Given the description of an element on the screen output the (x, y) to click on. 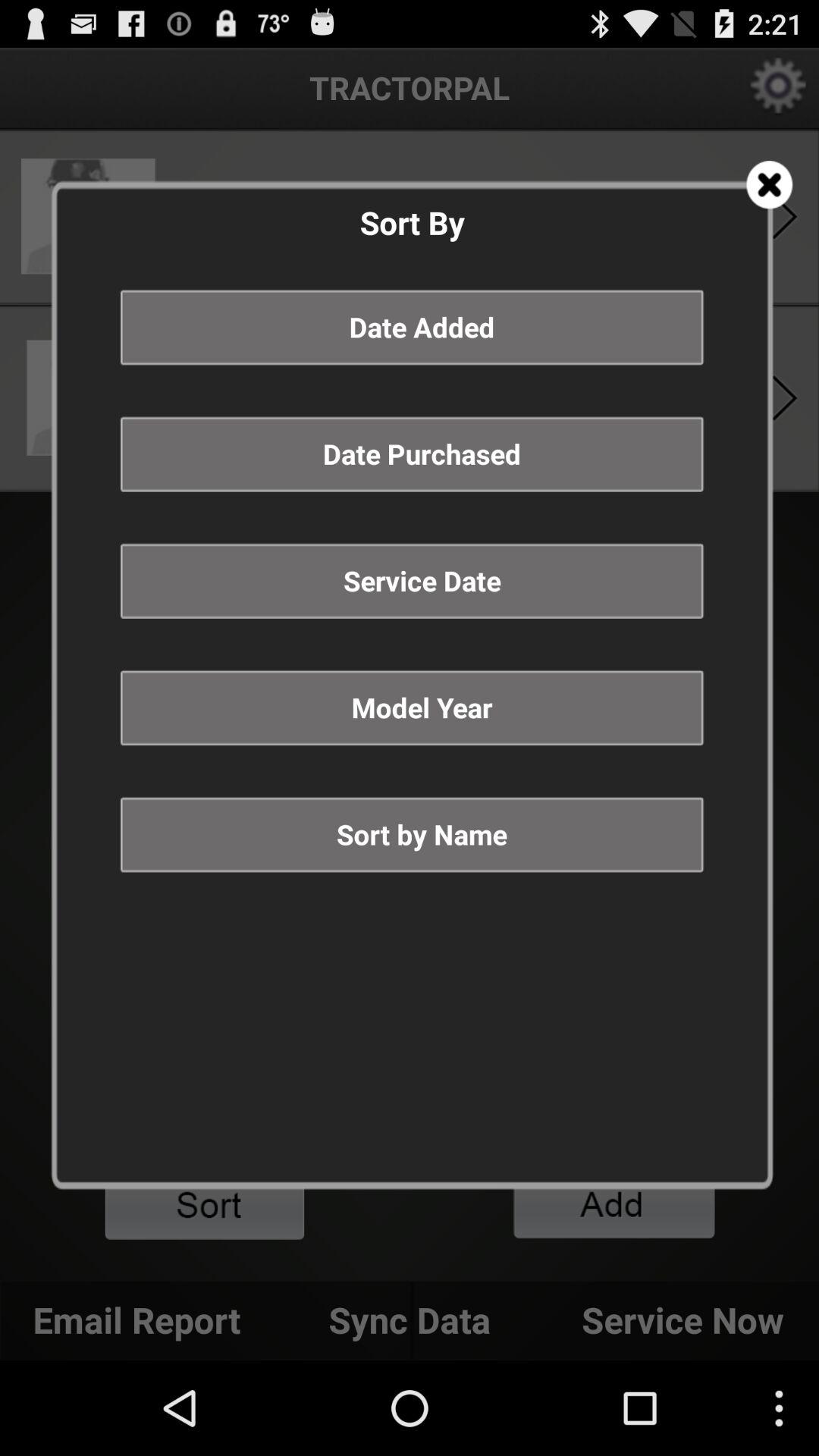
tap the app next to sort by icon (769, 184)
